Given the description of an element on the screen output the (x, y) to click on. 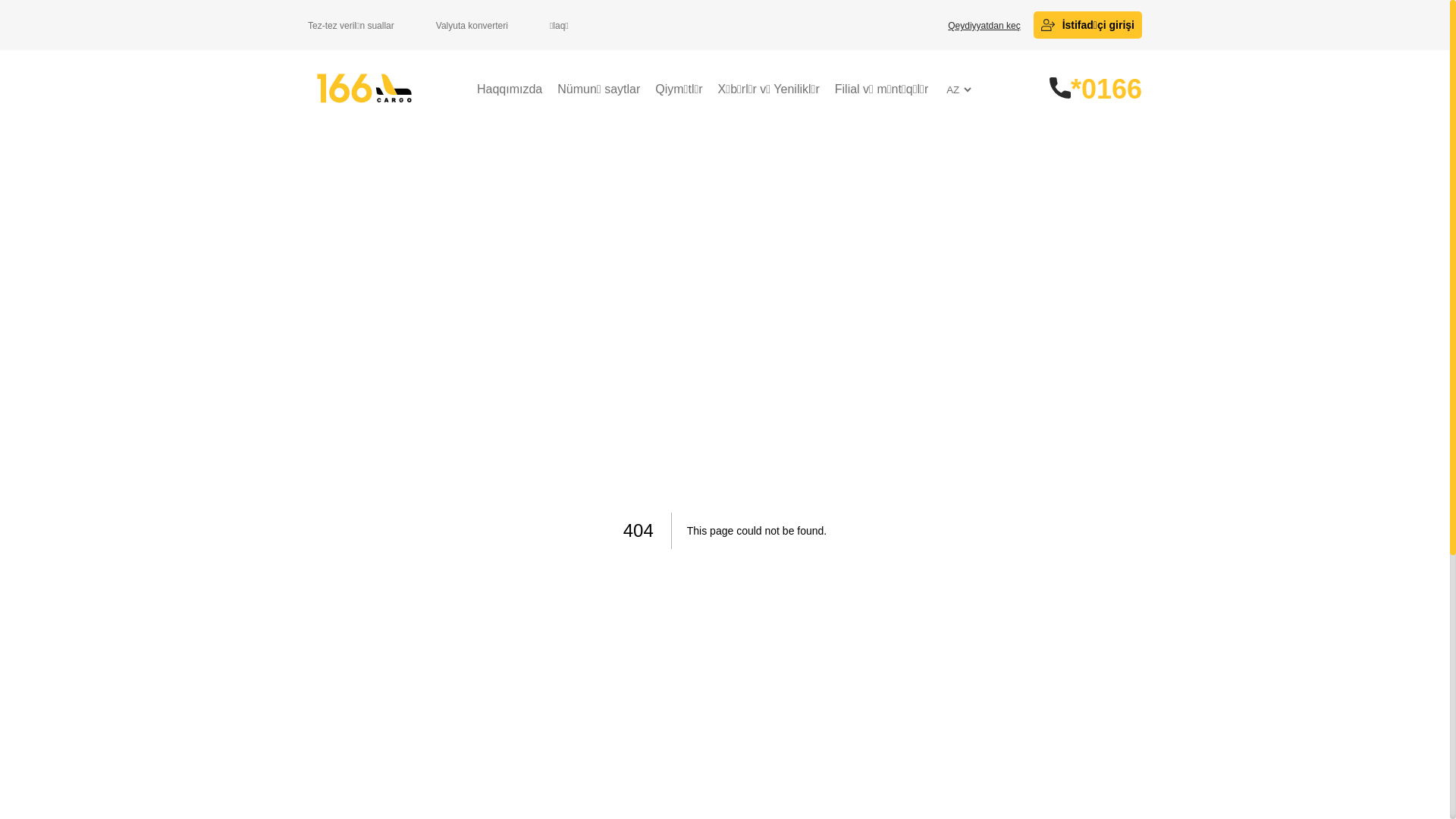
Valyuta konverteri Element type: text (472, 25)
